Given the description of an element on the screen output the (x, y) to click on. 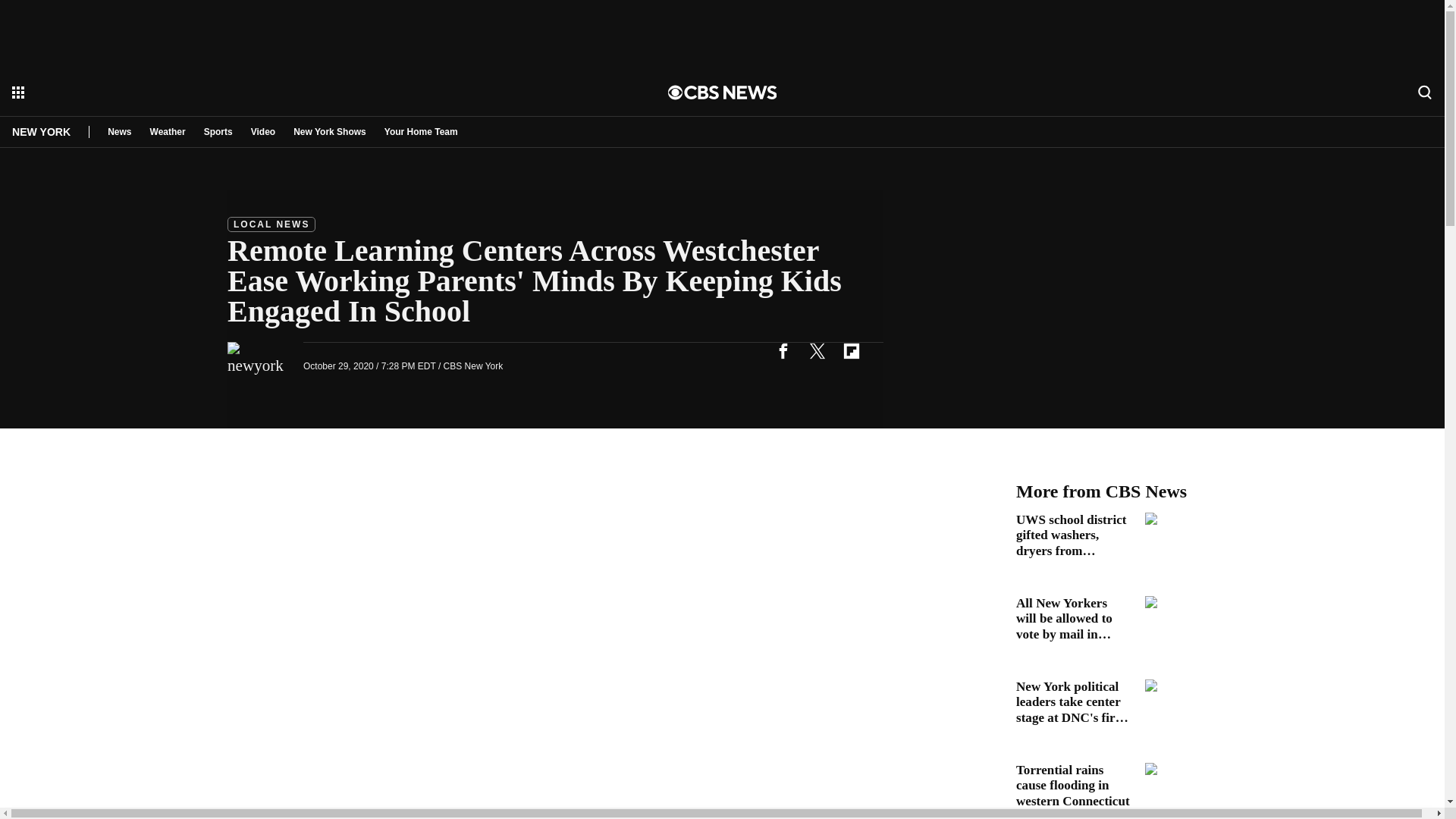
twitter (816, 350)
flipboard (850, 350)
facebook (782, 350)
